Given the description of an element on the screen output the (x, y) to click on. 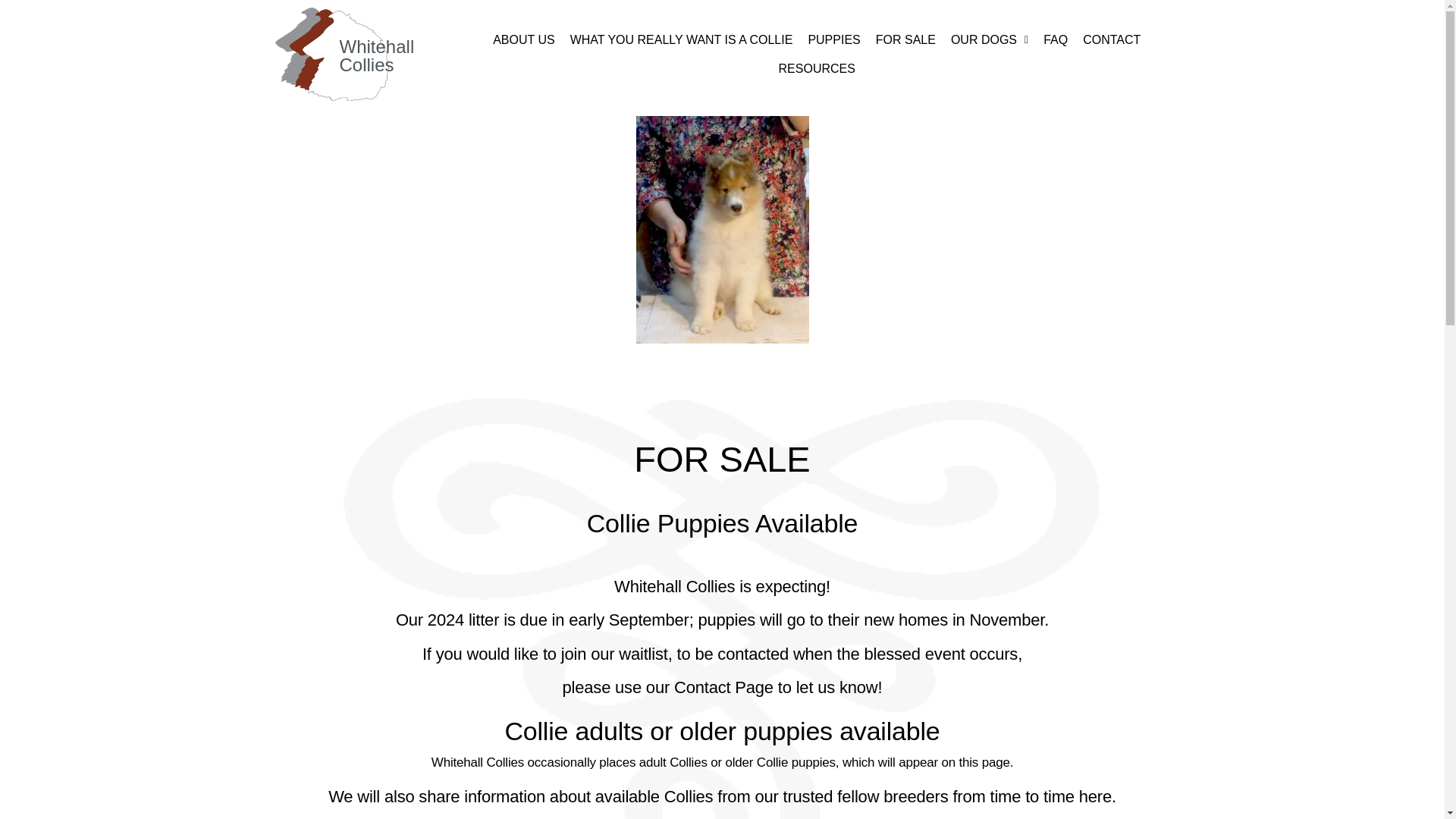
WHAT YOU REALLY WANT IS A COLLIE (681, 39)
OUR DOGS (989, 39)
FOR SALE (905, 39)
CONTACT (1111, 39)
PUPPIES (833, 39)
FAQ (1055, 39)
ABOUT US (523, 39)
RESOURCES (817, 68)
